Given the description of an element on the screen output the (x, y) to click on. 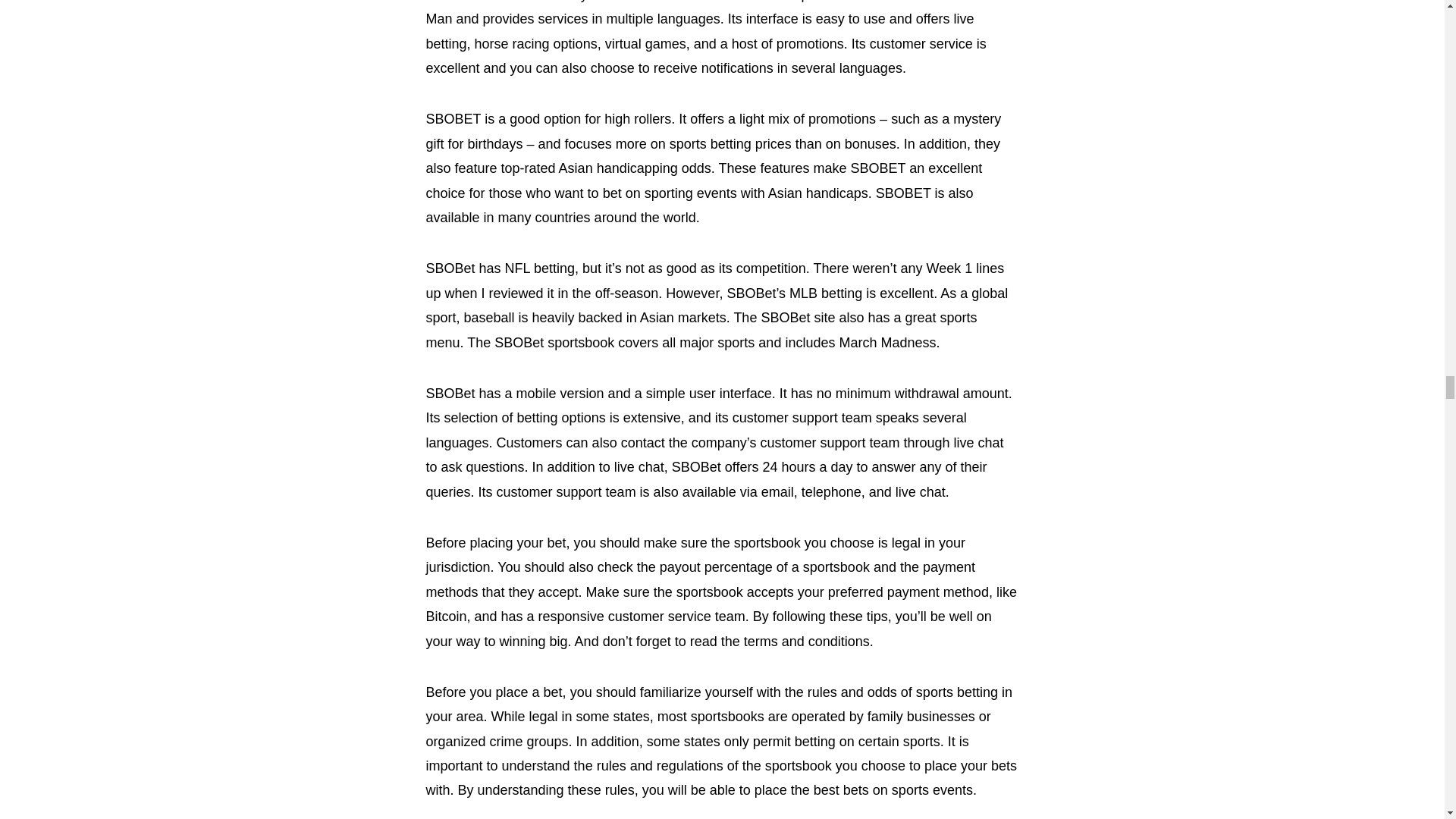
Jun 15 2022 (455, 817)
